Given the description of an element on the screen output the (x, y) to click on. 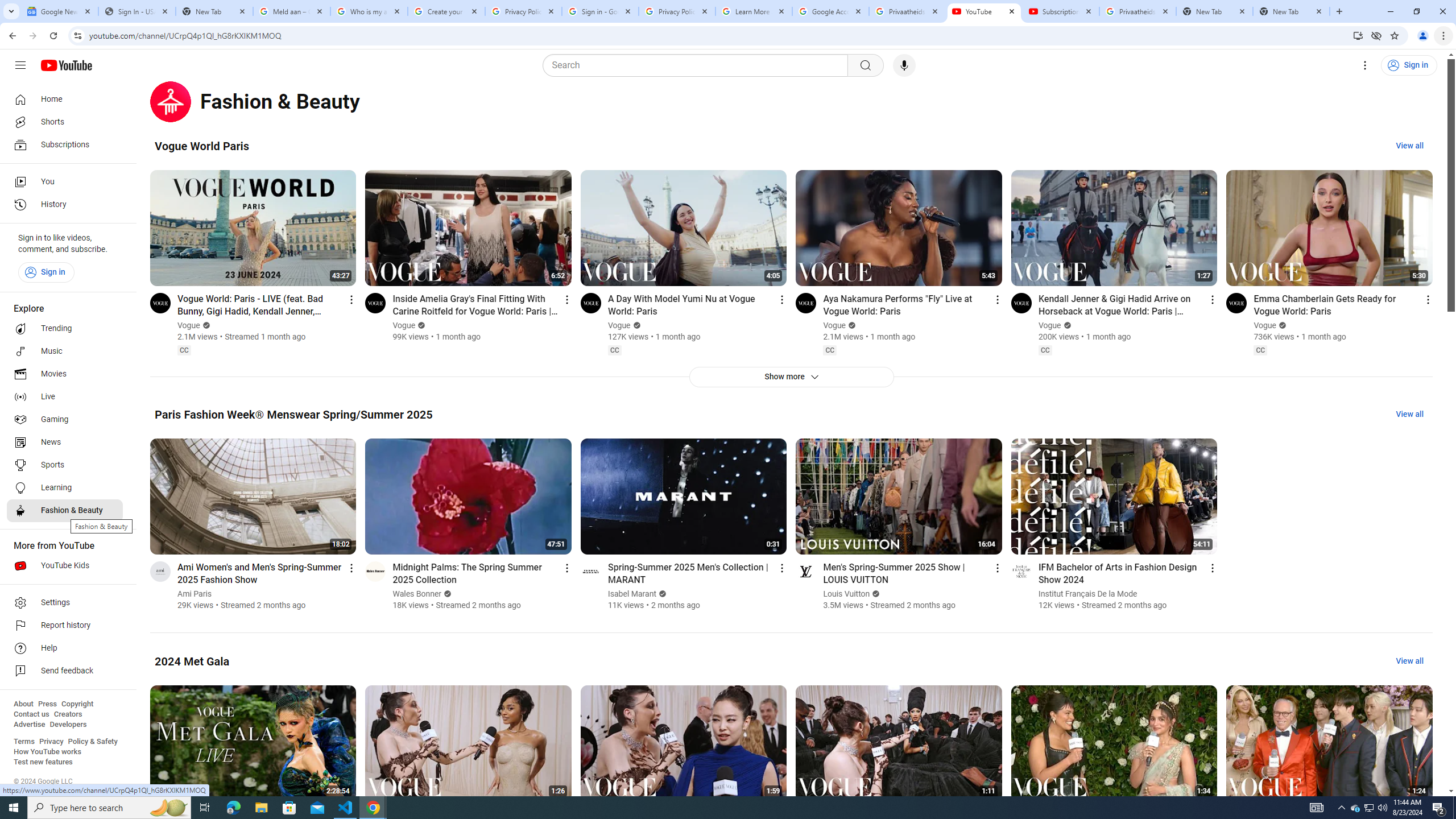
Who is my administrator? - Google Account Help (368, 11)
Settings (1365, 65)
Home (64, 99)
Settings (64, 602)
Action menu (1212, 567)
Sign in - Google Accounts (599, 11)
Trending (64, 328)
Closed captions (1260, 349)
Terms (23, 741)
New Tab (213, 11)
New Tab (1291, 11)
